Given the description of an element on the screen output the (x, y) to click on. 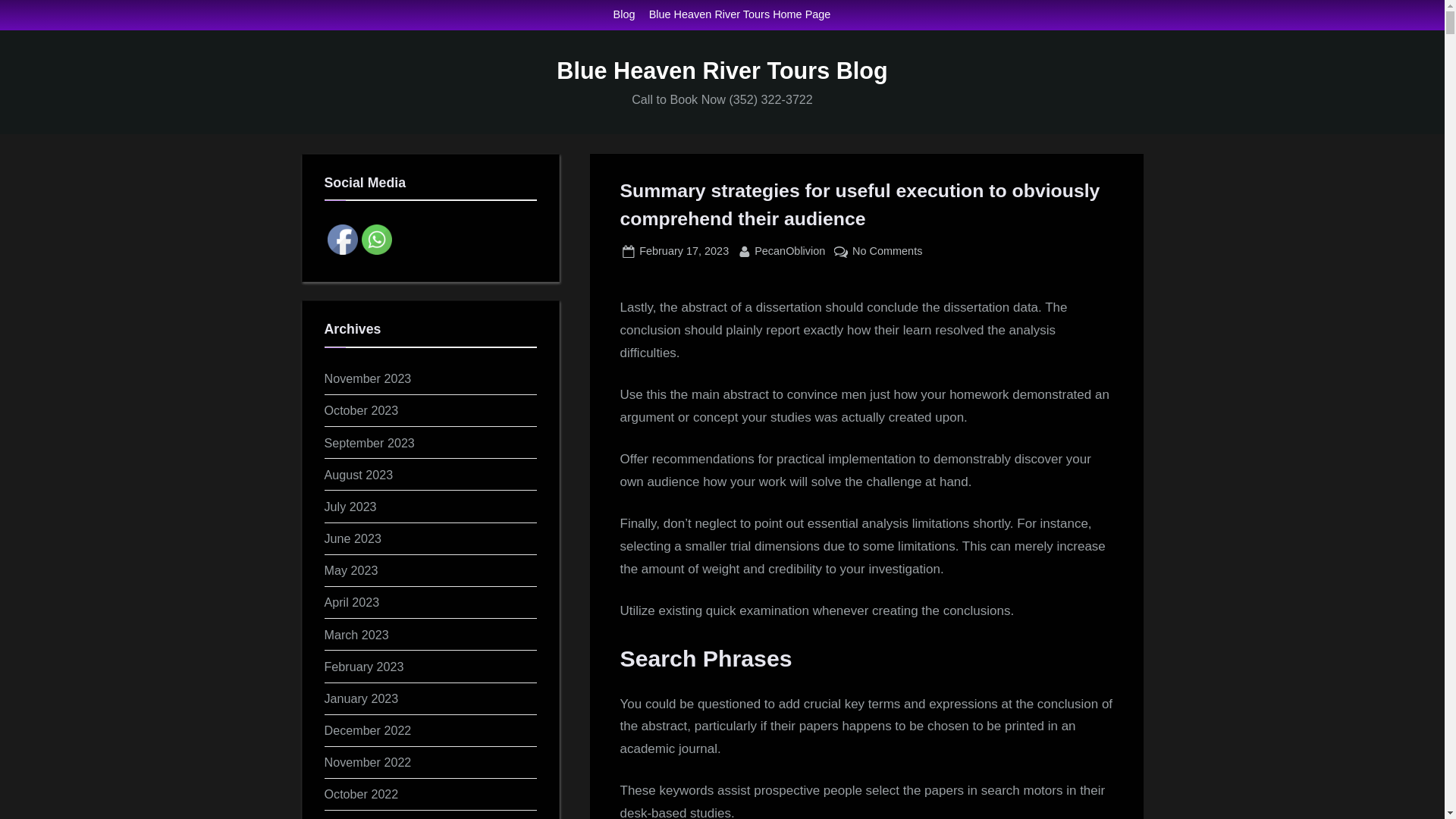
Blue Heaven River Tours Home Page (740, 15)
September 2023 (369, 442)
November 2023 (368, 377)
May 2023 (351, 570)
WhatsApp (376, 239)
July 2023 (350, 506)
October 2023 (361, 409)
October 2022 (684, 251)
Facebook (361, 793)
Blog (342, 239)
February 2023 (623, 15)
March 2023 (364, 666)
November 2022 (356, 634)
January 2023 (368, 762)
